Given the description of an element on the screen output the (x, y) to click on. 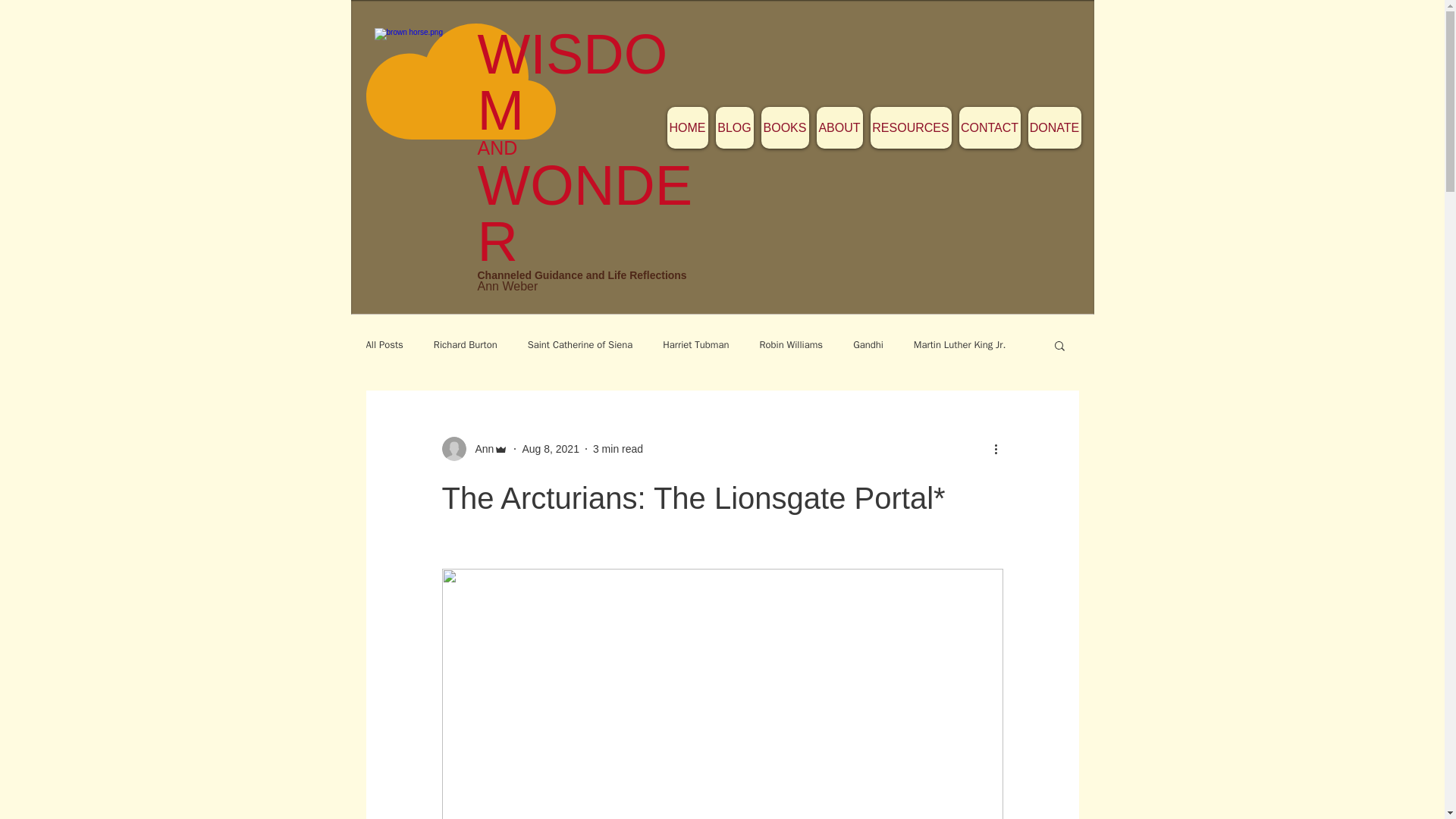
CONTACT (989, 127)
BLOG (735, 127)
DONATE (1054, 127)
Robin Williams (792, 345)
Aug 8, 2021 (550, 449)
ABOUT (838, 127)
Richard Burton (465, 345)
Harriet Tubman (695, 345)
RESOURCES (911, 127)
HOME (686, 127)
WONDER (585, 212)
Saint Catherine of Siena (580, 345)
Gandhi (868, 345)
AND  (505, 147)
3 min read (617, 449)
